Given the description of an element on the screen output the (x, y) to click on. 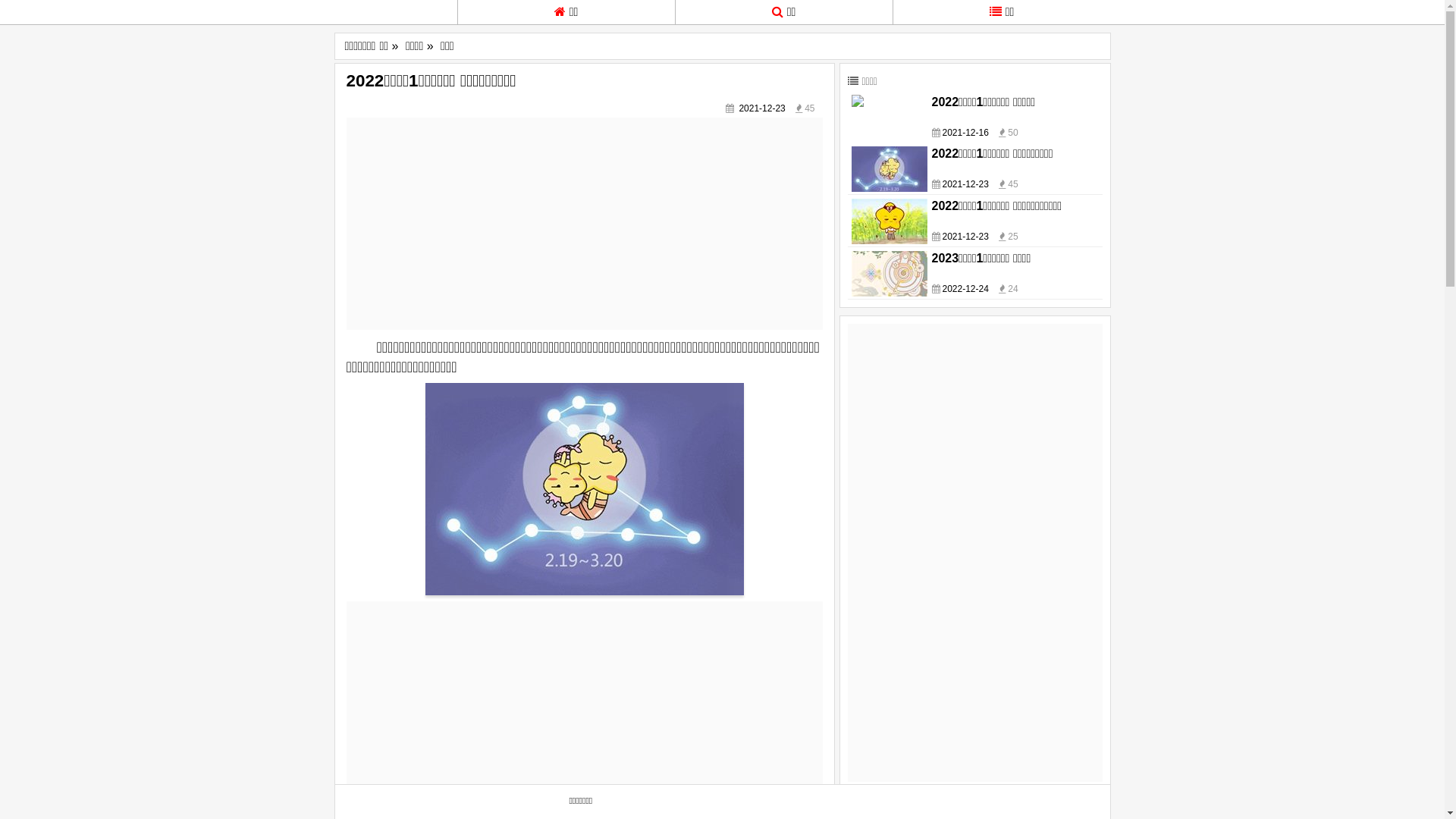
2022-12-24 Element type: text (964, 288)
2021-12-16 Element type: text (964, 132)
Advertisement Element type: hover (974, 550)
2021-12-23 Element type: text (964, 183)
2021-12-23 Element type: text (761, 108)
Advertisement Element type: hover (583, 707)
Advertisement Element type: hover (583, 223)
2021-12-23 Element type: text (964, 236)
